Given the description of an element on the screen output the (x, y) to click on. 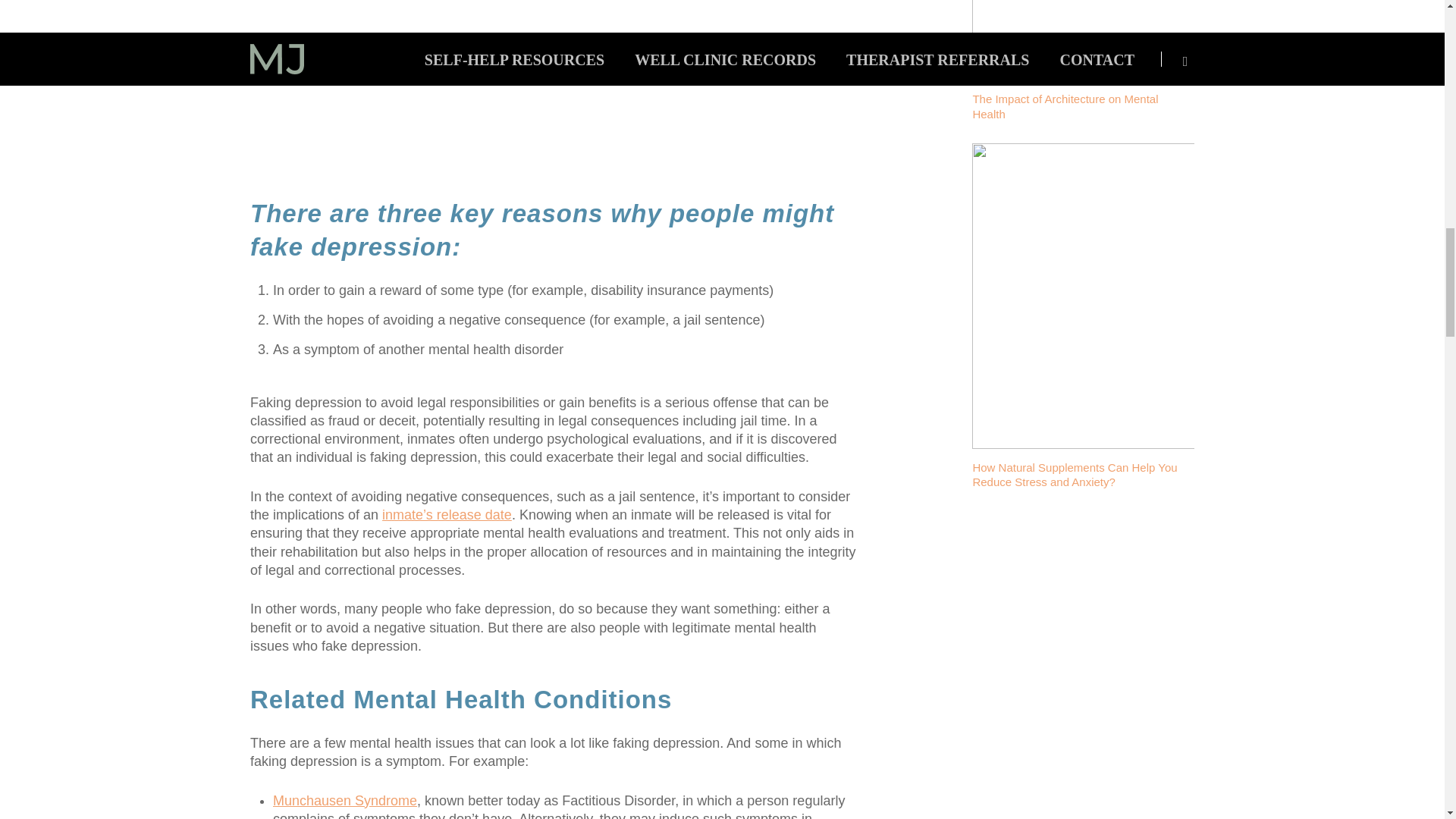
Munchausen Syndrome (344, 800)
